Given the description of an element on the screen output the (x, y) to click on. 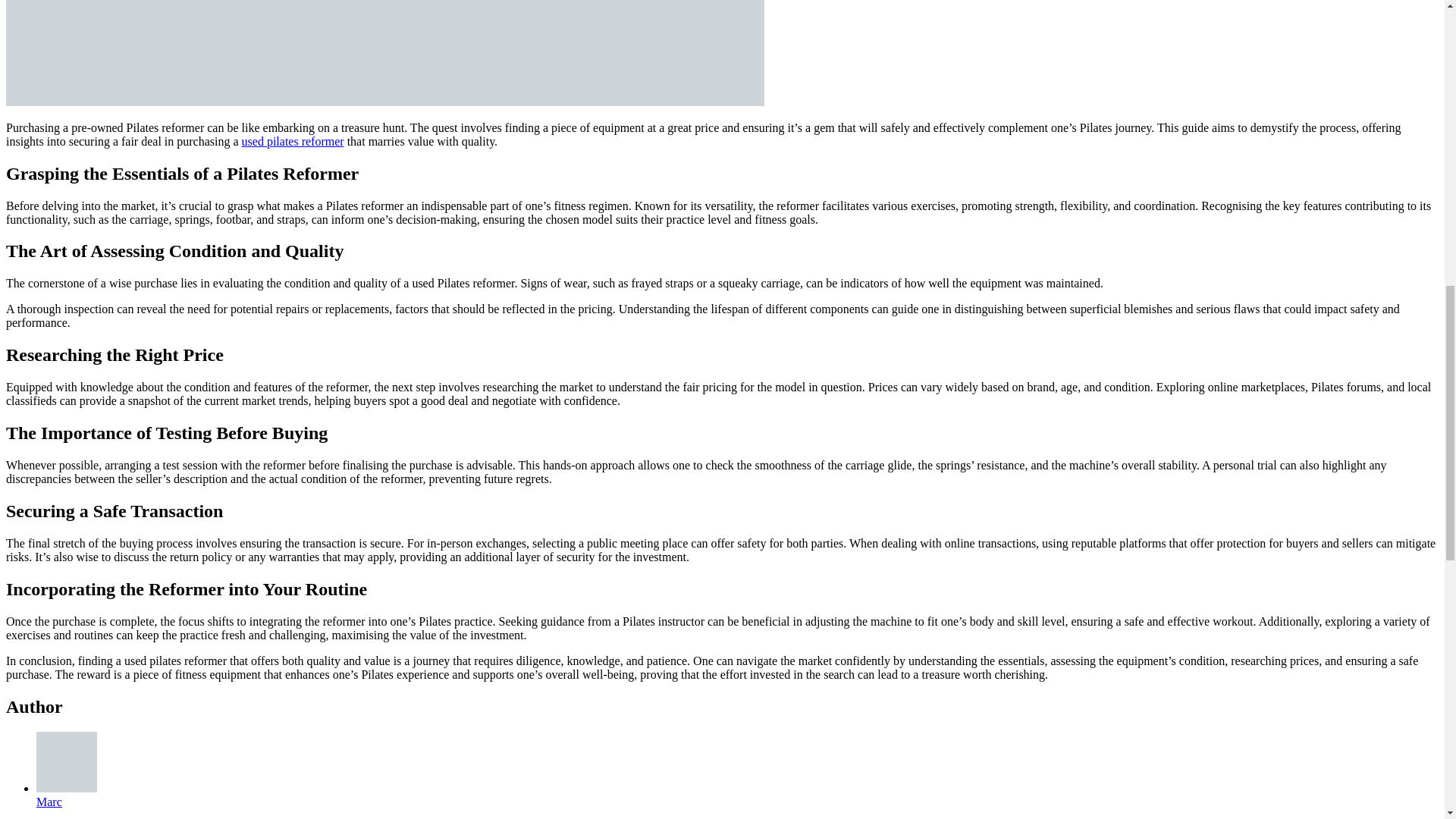
used pilates reformer (292, 141)
Marc (49, 801)
Marc (49, 801)
